Given the description of an element on the screen output the (x, y) to click on. 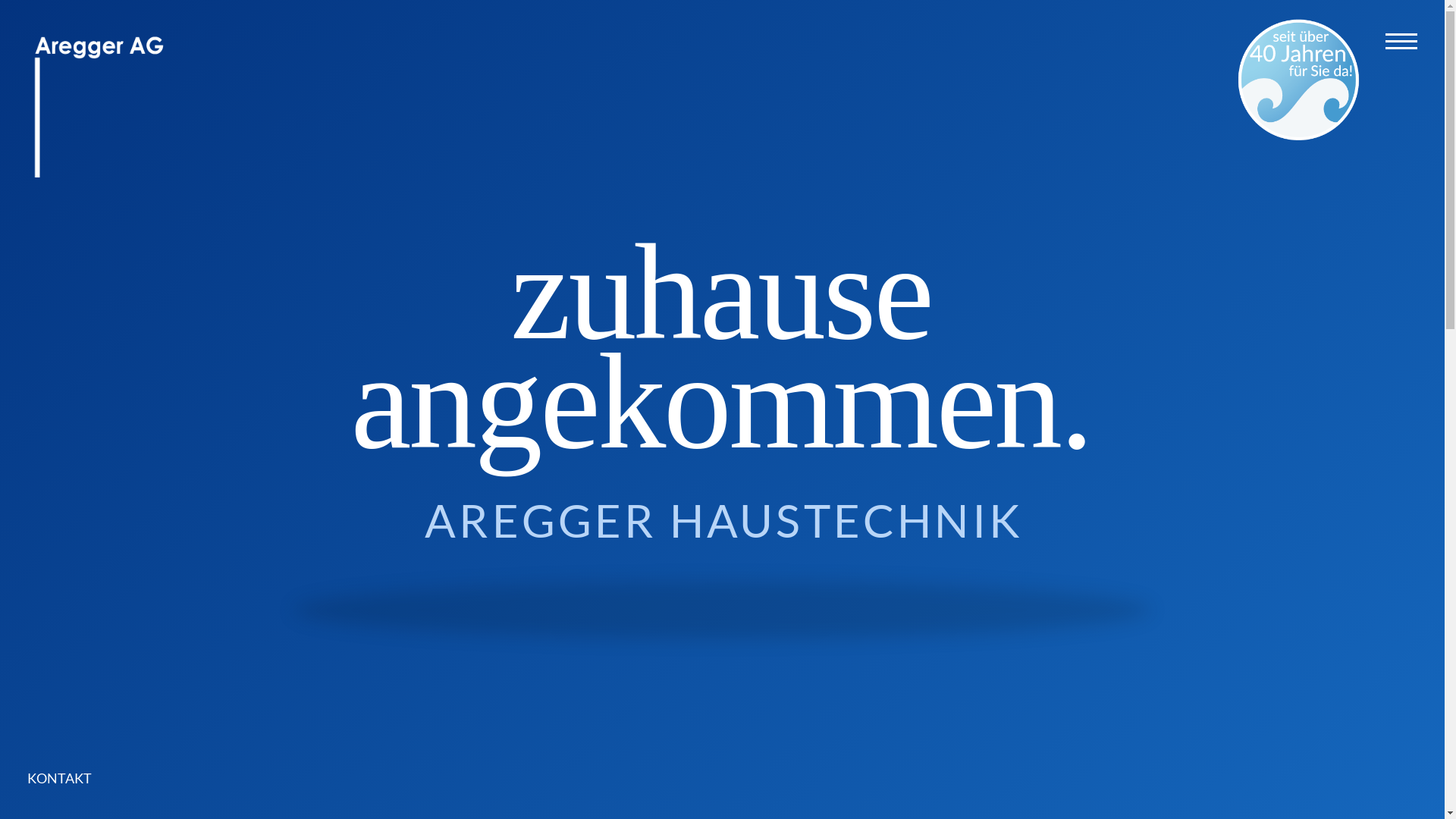
KONTAKT Element type: text (69, 777)
Close the Content Dock Element type: text (233, 682)
